Given the description of an element on the screen output the (x, y) to click on. 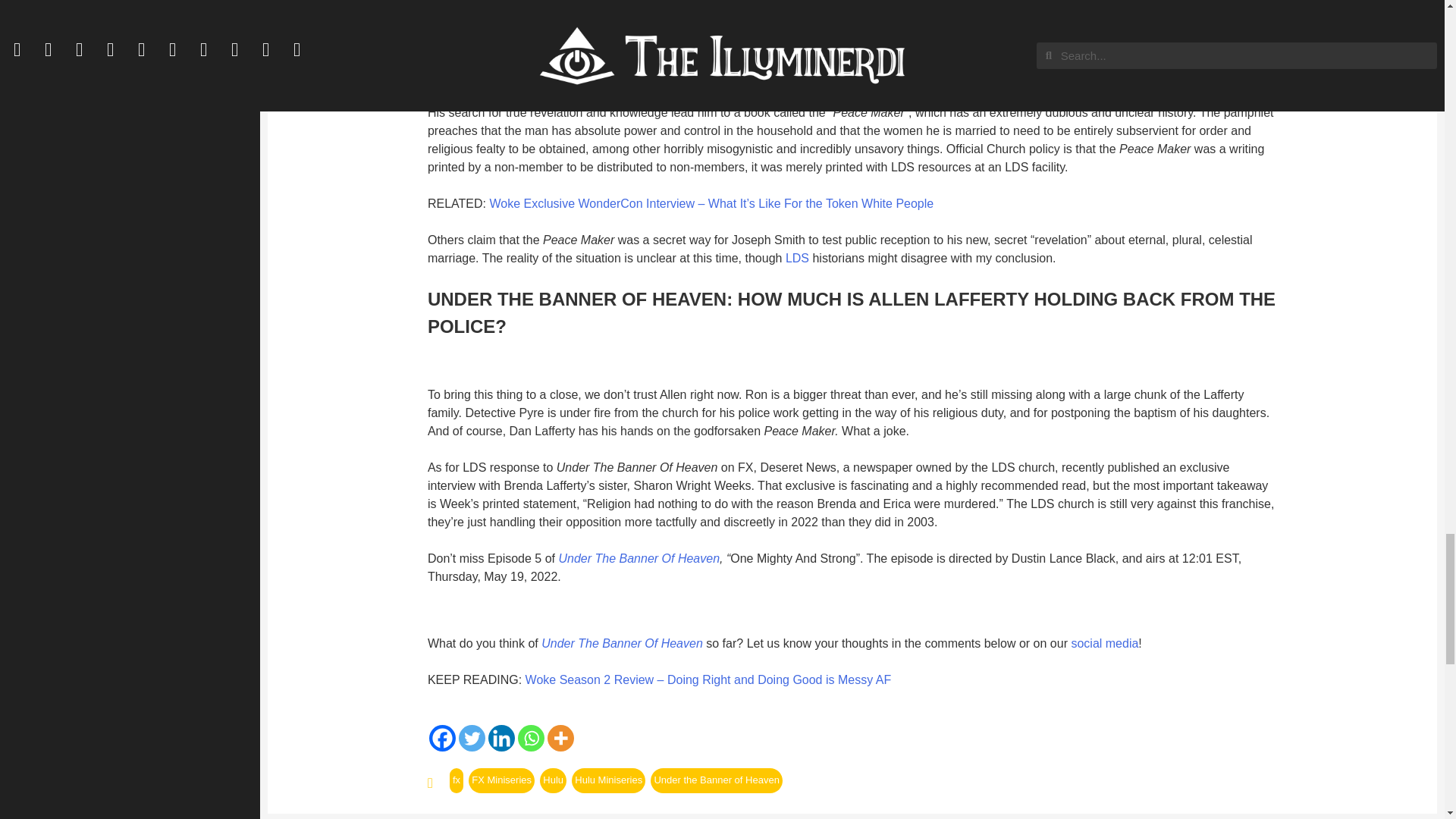
Linkedin (501, 737)
More (560, 737)
Twitter (471, 737)
Facebook (442, 737)
Whatsapp (531, 737)
